Given the description of an element on the screen output the (x, y) to click on. 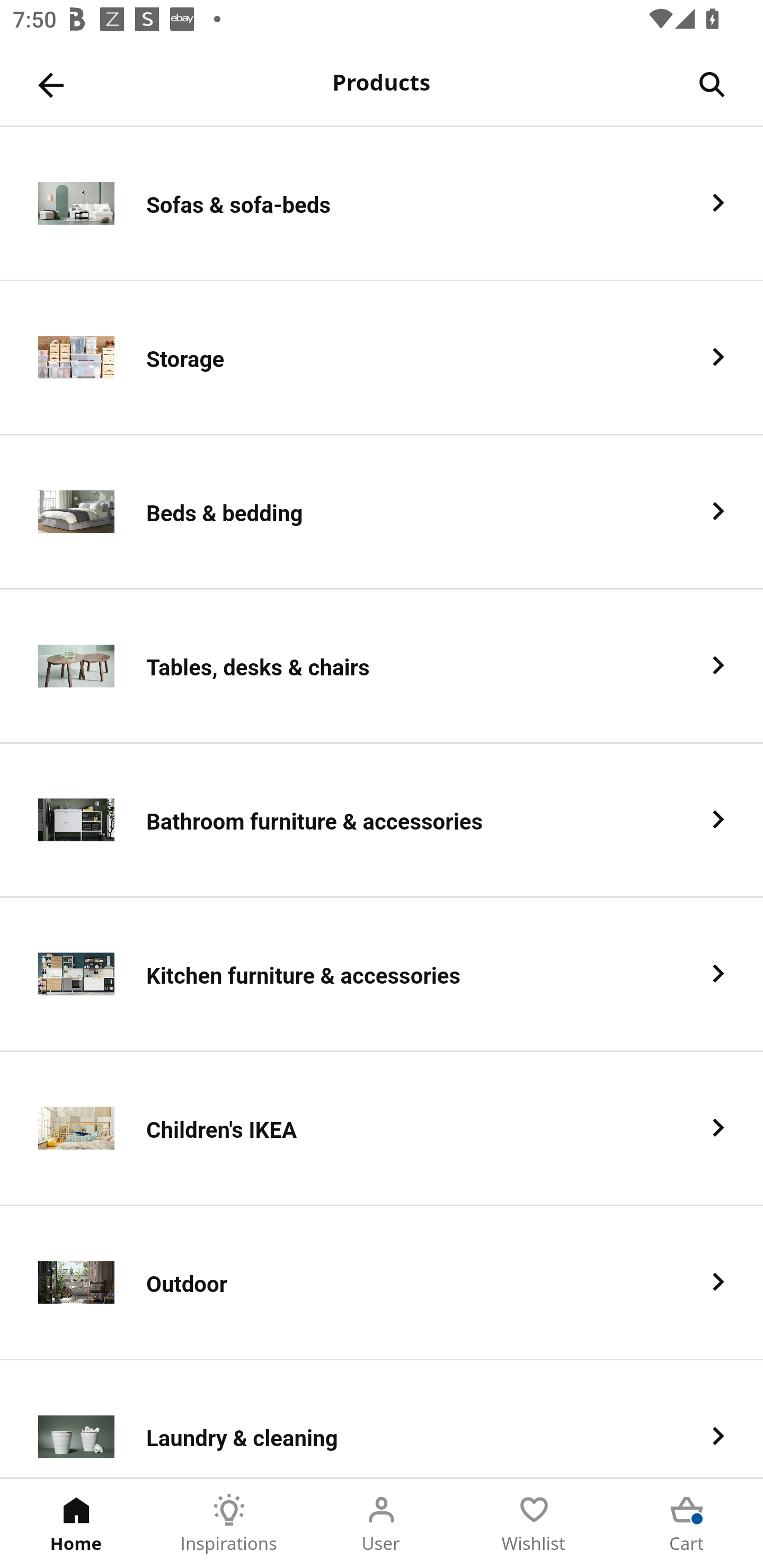
Sofas & sofa-beds (381, 203)
Storage (381, 357)
Beds & bedding (381, 512)
Tables, desks & chairs (381, 666)
Bathroom furniture & accessories (381, 820)
Kitchen furniture & accessories (381, 975)
Children's IKEA (381, 1128)
Outdoor (381, 1283)
Laundry & cleaning (381, 1419)
Home
Tab 1 of 5 (76, 1522)
Inspirations
Tab 2 of 5 (228, 1522)
User
Tab 3 of 5 (381, 1522)
Wishlist
Tab 4 of 5 (533, 1522)
Cart
Tab 5 of 5 (686, 1522)
